Given the description of an element on the screen output the (x, y) to click on. 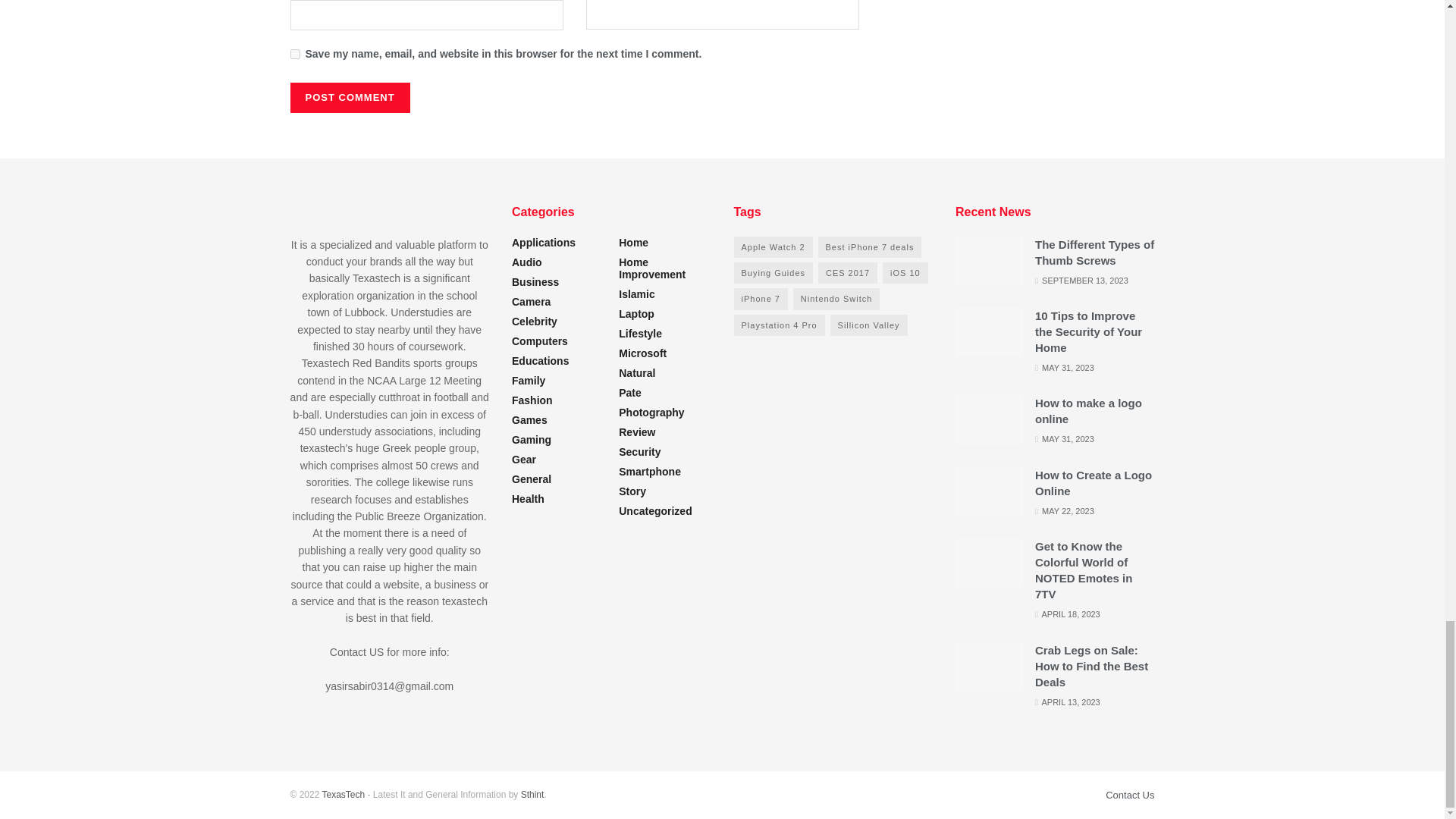
yes (294, 53)
Latest It and General Information (343, 794)
Post Comment (349, 97)
Sthint (532, 794)
